Given the description of an element on the screen output the (x, y) to click on. 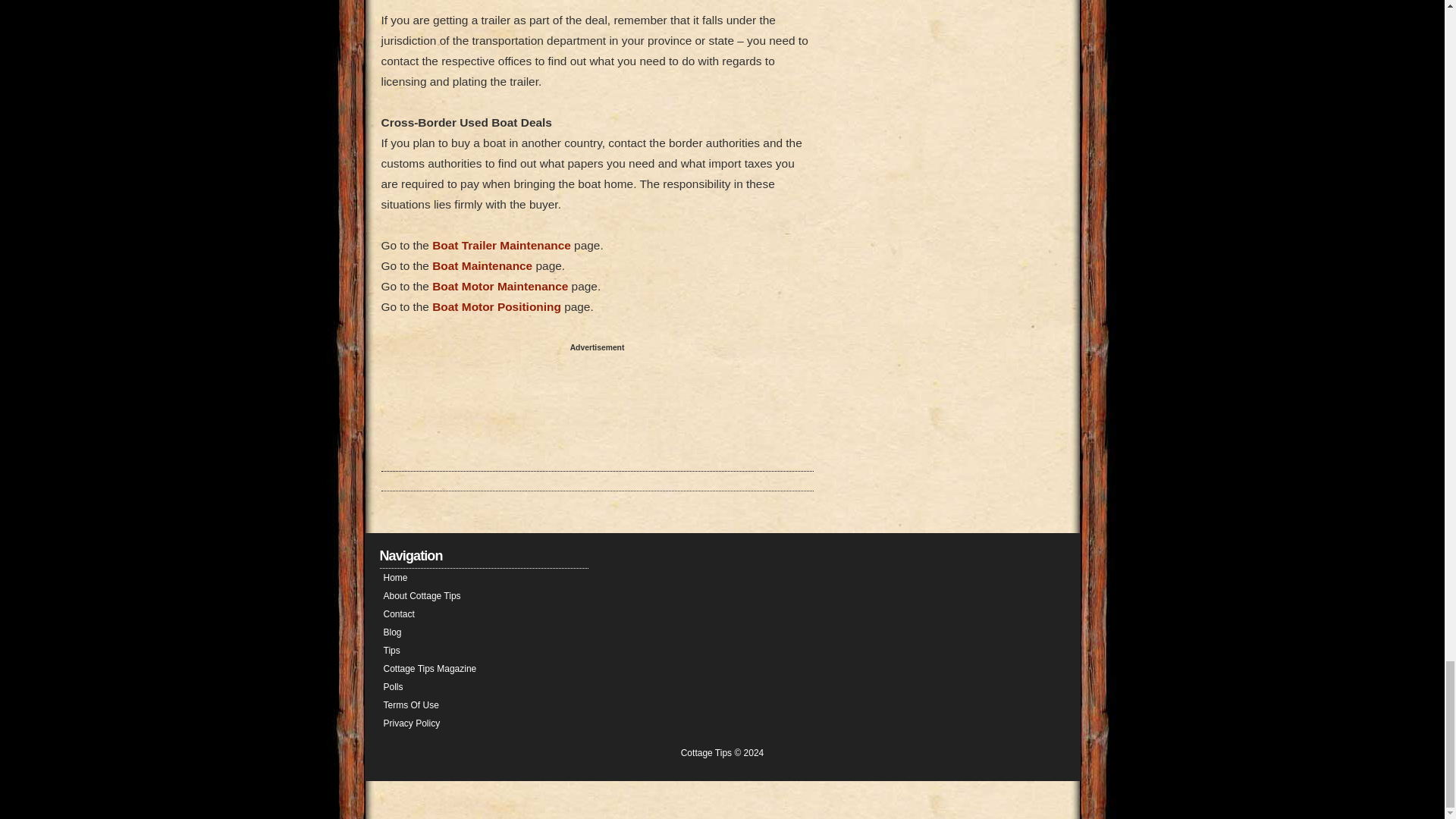
Boat Motor Maintenance (499, 286)
Boat Maintenance (482, 265)
Boat Trailer Maintenance (501, 245)
Boat Motor Positioning (496, 306)
